Given the description of an element on the screen output the (x, y) to click on. 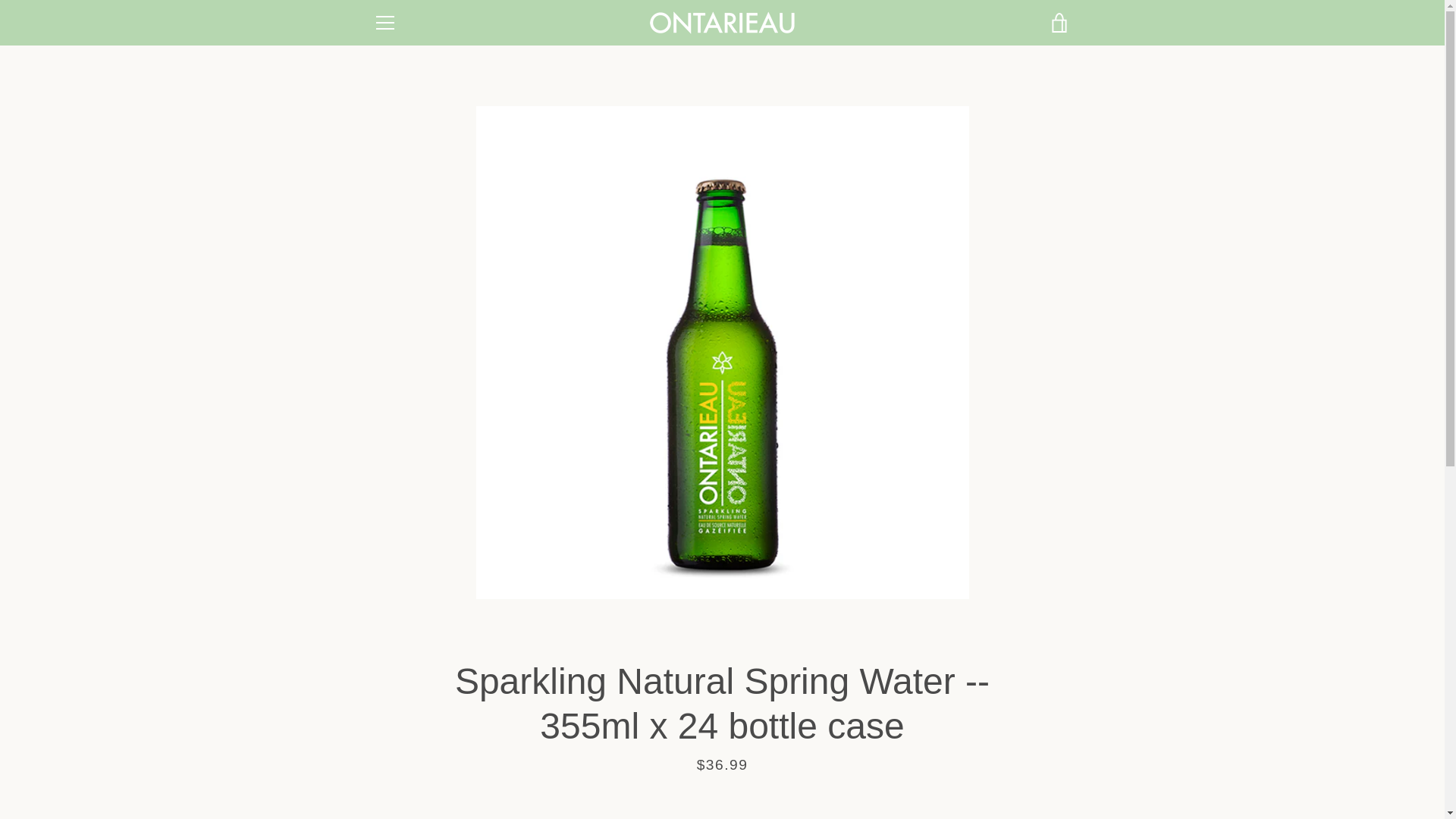
SEARCH (397, 656)
Twitter (400, 776)
Ontarieau on Facebook (372, 776)
VIEW CART (1059, 22)
Facebook (372, 776)
Ok (1038, 699)
Ok (1038, 699)
EXPAND NAVIGATION (384, 22)
Ontarieau on Instagram (426, 776)
Ontarieau on Twitter (400, 776)
Ontarieau (1007, 777)
Instagram (426, 776)
